Given the description of an element on the screen output the (x, y) to click on. 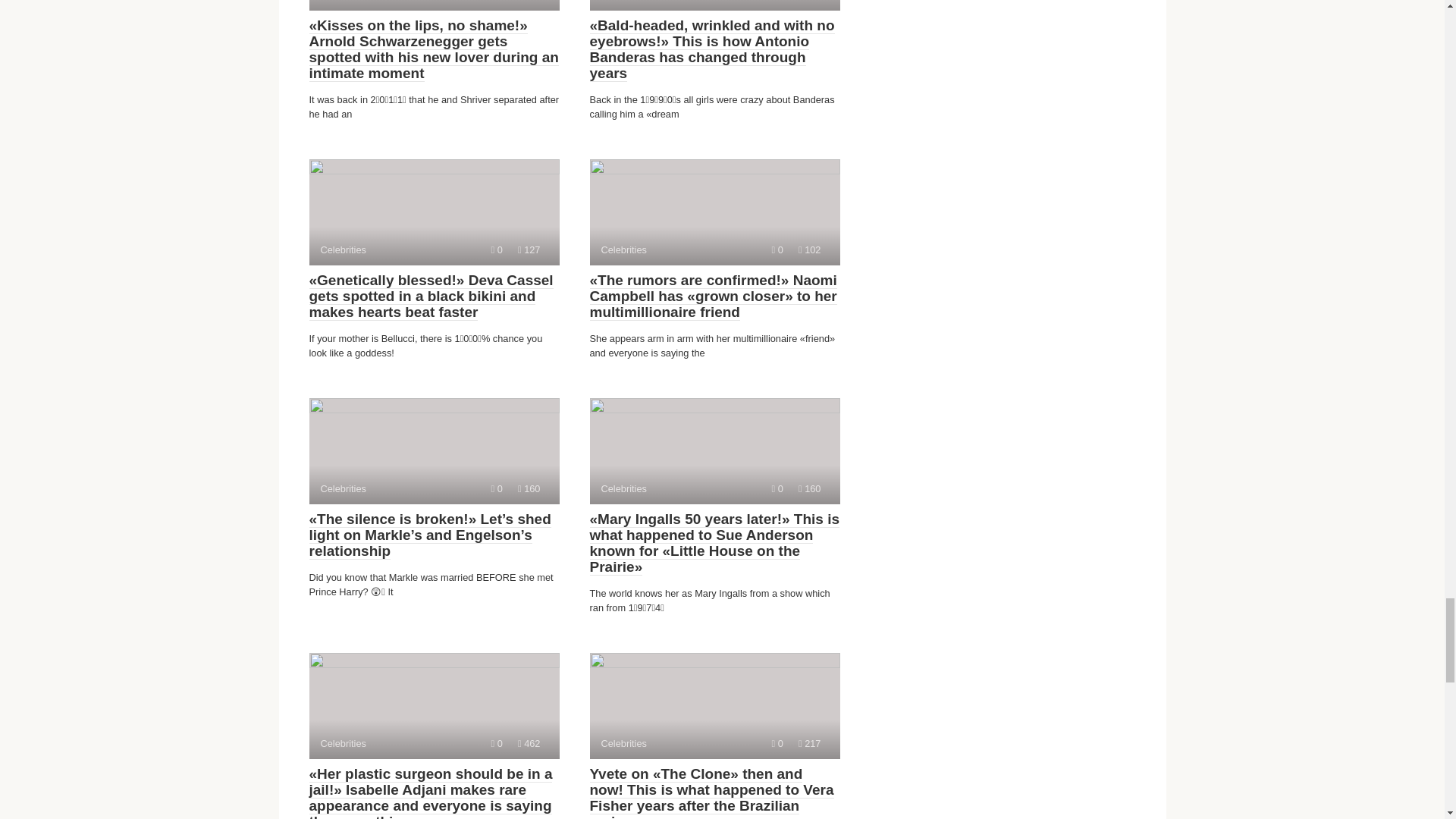
Views (714, 451)
Comments (809, 488)
Views (714, 705)
Views (714, 211)
Comments (529, 249)
